Given the description of an element on the screen output the (x, y) to click on. 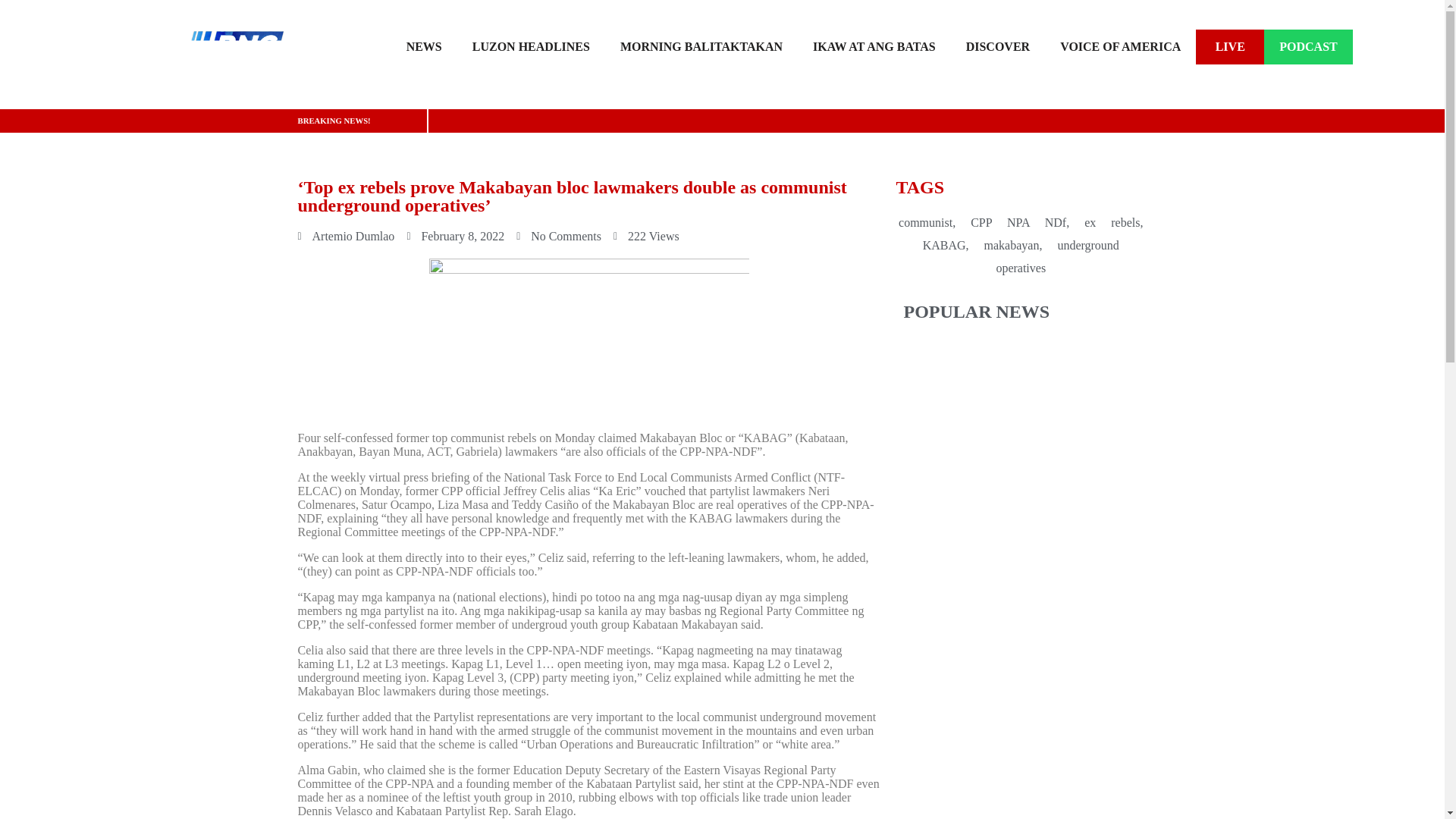
NEWS (424, 46)
PODCAST (1307, 46)
LIVE (1229, 46)
IKAW AT ANG BATAS (873, 46)
LUZON HEADLINES (531, 46)
DISCOVER (997, 46)
VOICE OF AMERICA (1120, 46)
MORNING BALITAKTAKAN (701, 46)
